Given the description of an element on the screen output the (x, y) to click on. 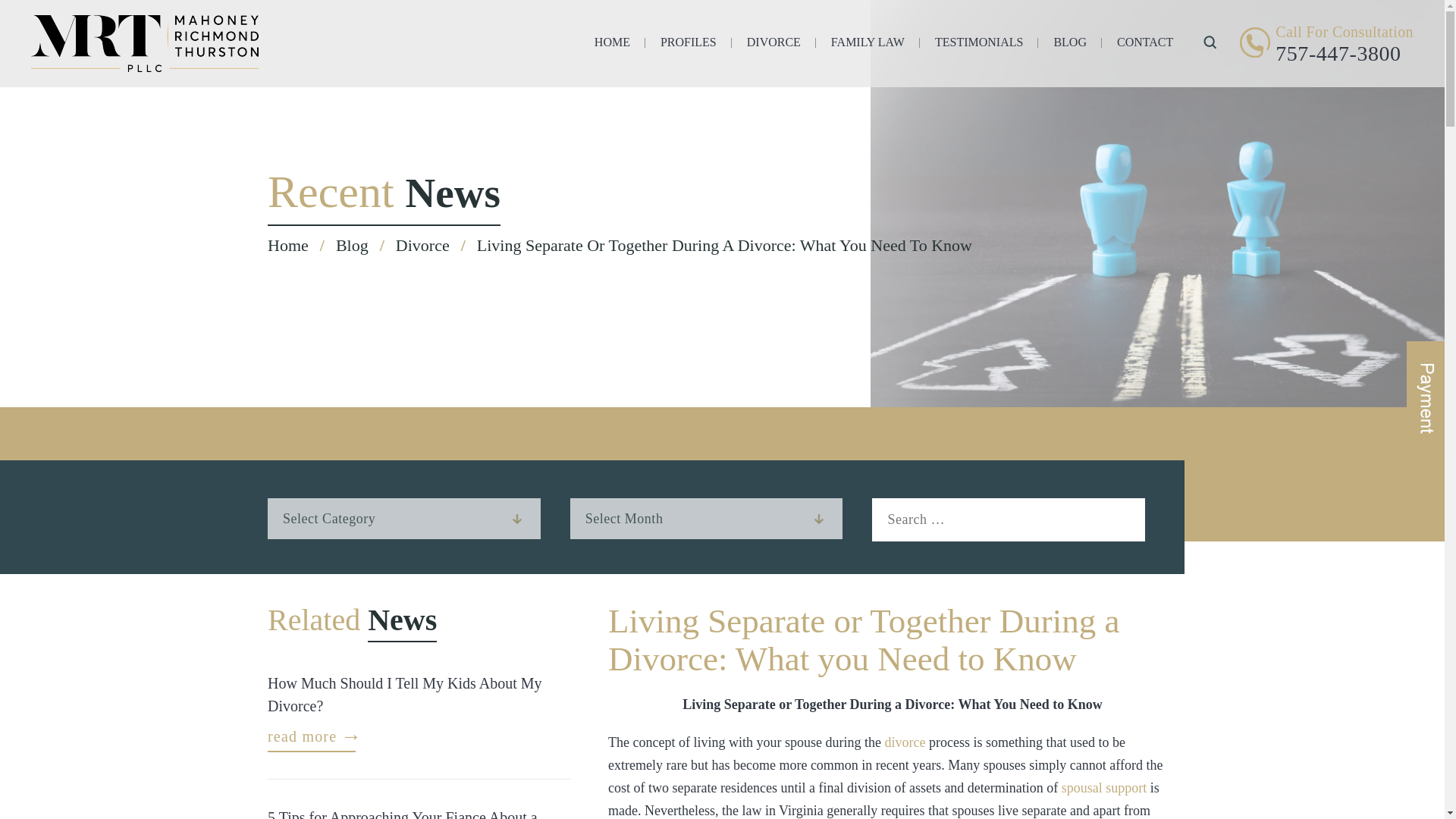
Go to Blog. (352, 244)
HOME (612, 44)
Go to MRT Law. (287, 244)
PROFILES (688, 44)
DIVORCE (773, 44)
Go to the Divorce category archives. (422, 244)
